Given the description of an element on the screen output the (x, y) to click on. 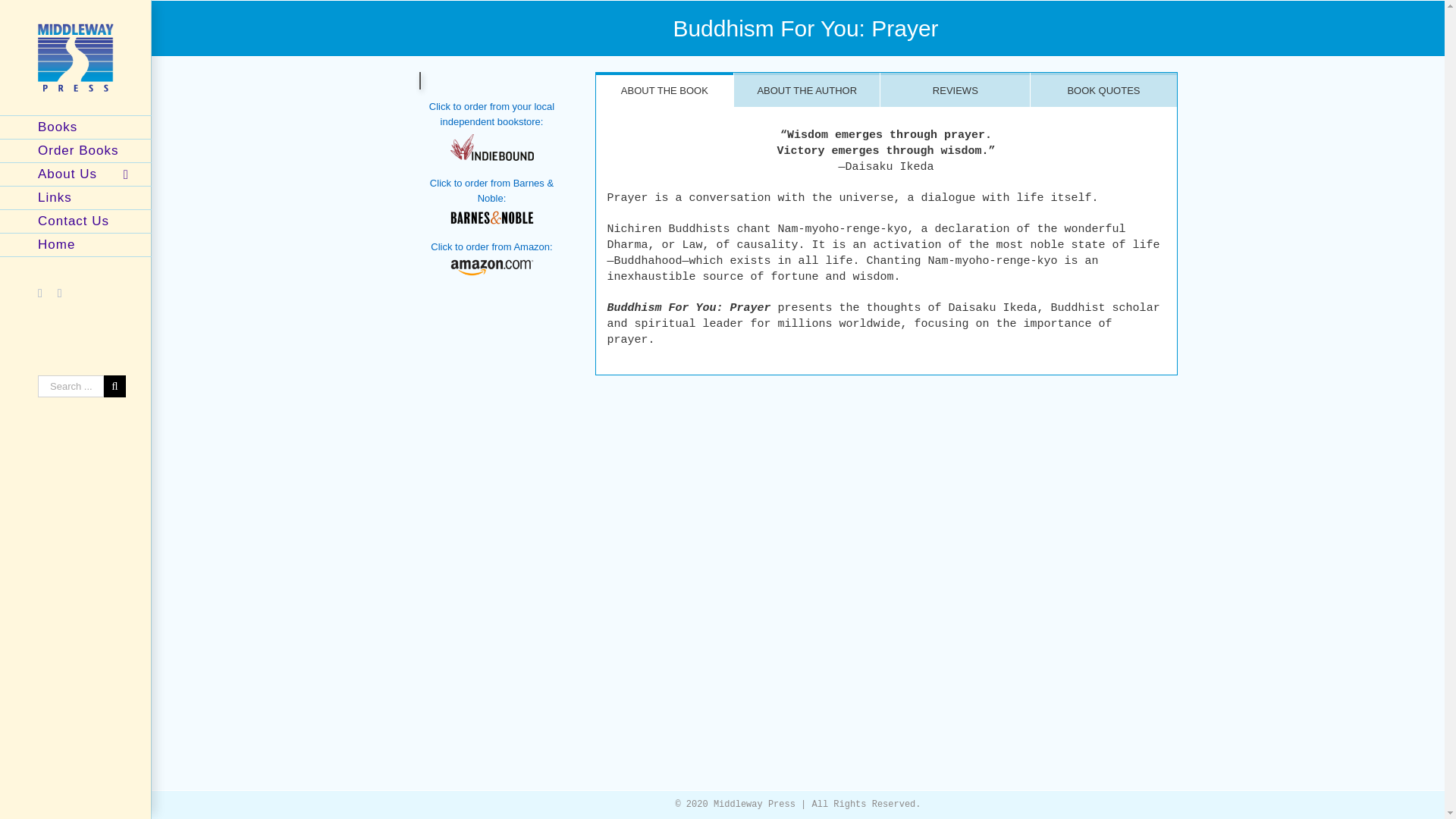
Books (75, 127)
Order Books (75, 150)
Contact Us (75, 221)
Click to order from Amazon: (490, 246)
About Us (75, 174)
Links (75, 197)
Click to order from your local independent bookstore: (491, 113)
Home (75, 245)
